Given the description of an element on the screen output the (x, y) to click on. 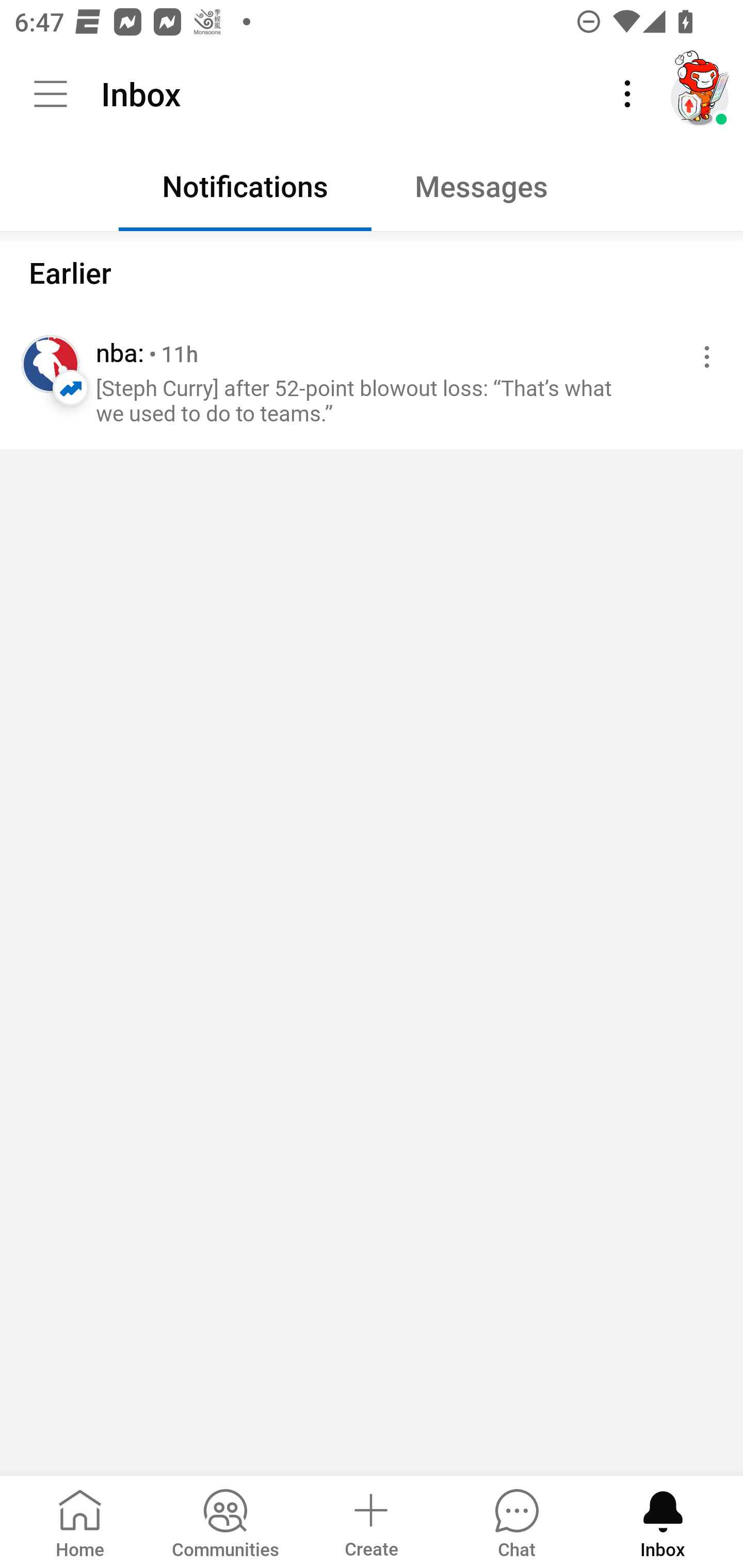
Community menu (50, 93)
More (626, 93)
TestAppium002 account (699, 93)
Messages (497, 191)
More options (703, 356)
Home (80, 1520)
Communities (225, 1520)
Create a post Create (370, 1520)
Chat (516, 1520)
Inbox (662, 1520)
